Given the description of an element on the screen output the (x, y) to click on. 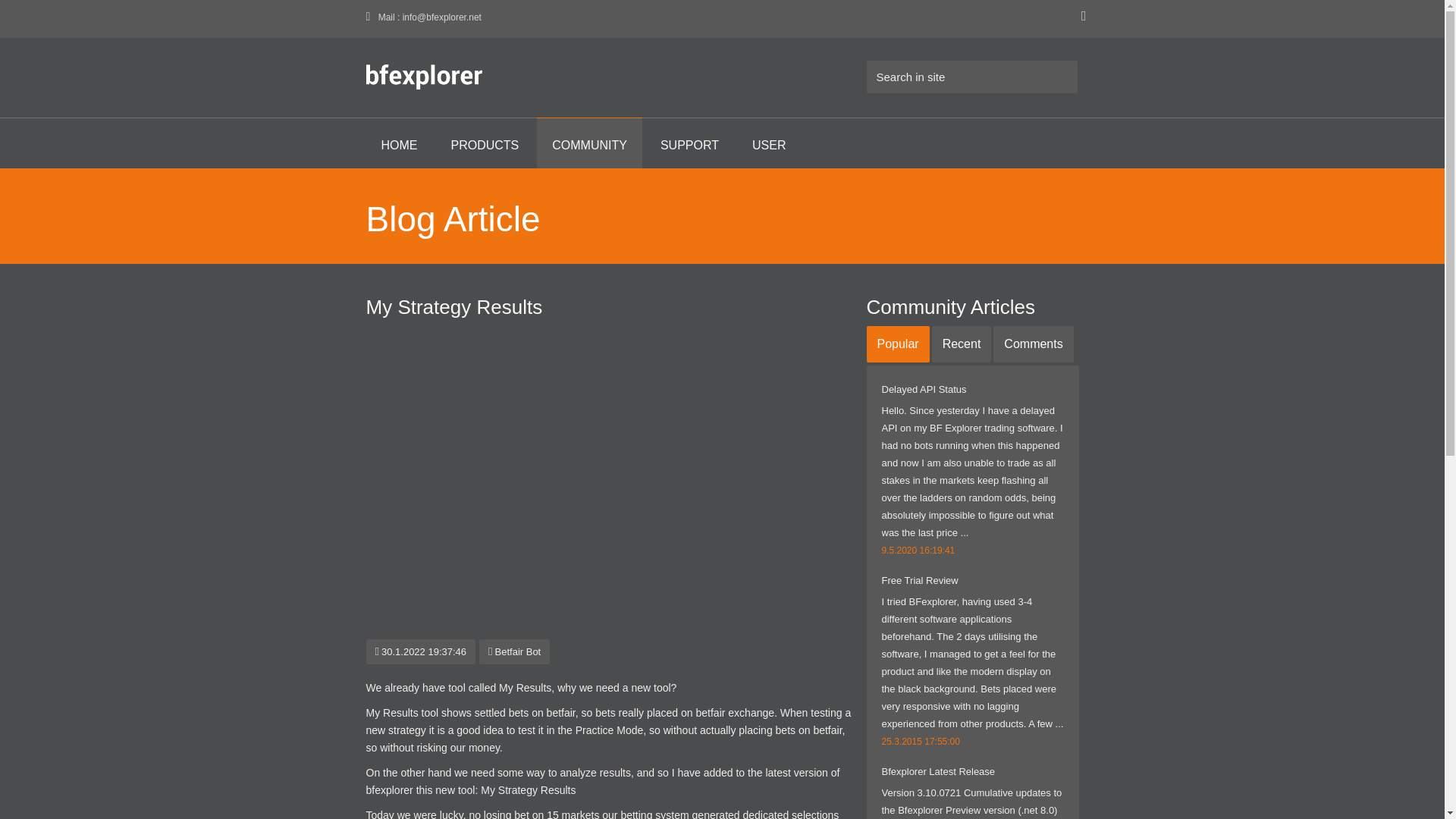
Free Trial Review (919, 580)
USER (768, 142)
Betfair Bot (513, 651)
Search in site (971, 76)
COMMUNITY (589, 142)
Search in site (971, 76)
Delayed API Status (923, 389)
Bfexplorer Latest Release (937, 771)
SUPPORT (689, 142)
HOME (398, 142)
PRODUCTS (484, 142)
